Given the description of an element on the screen output the (x, y) to click on. 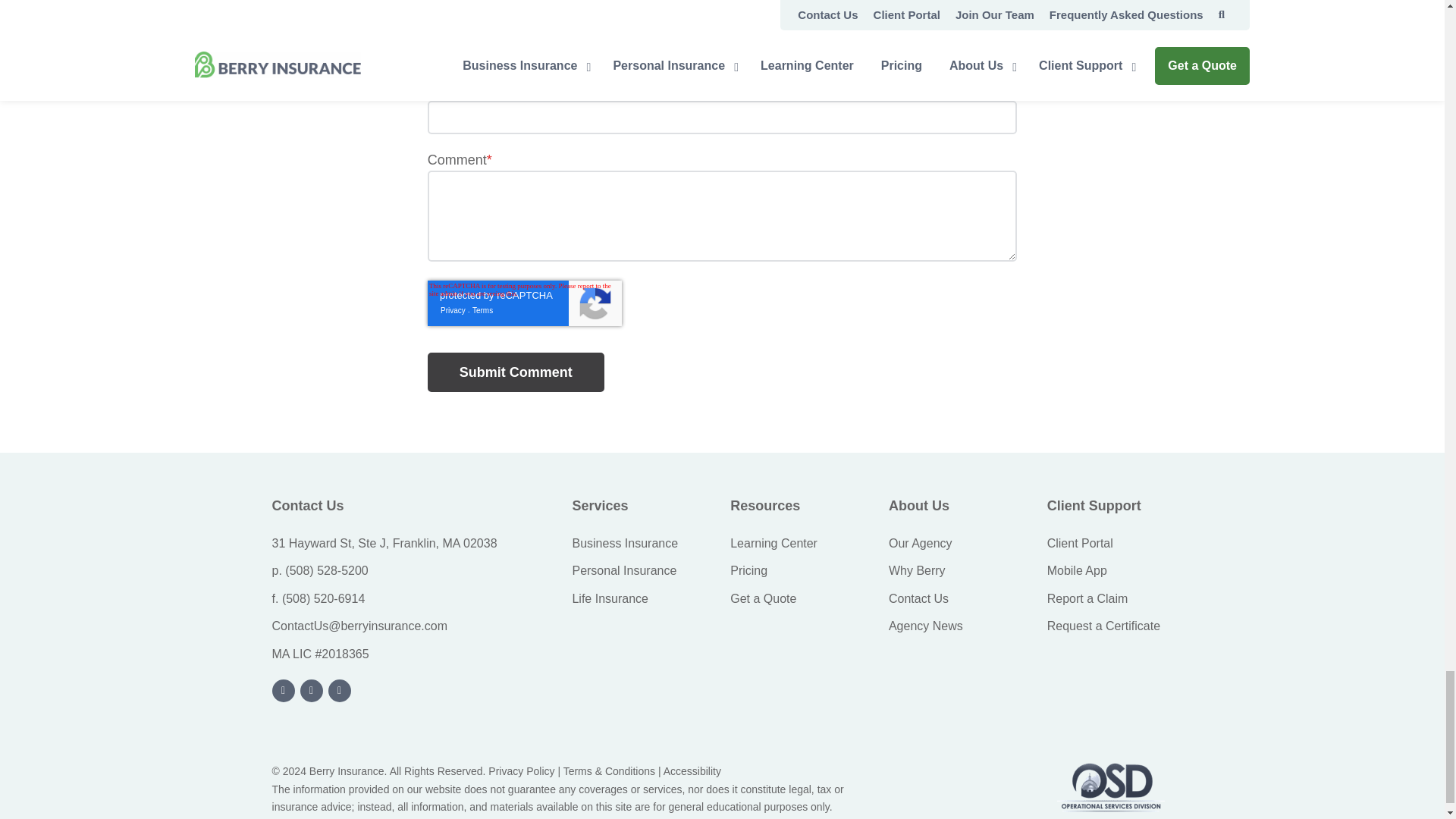
Facebook (339, 690)
Berry Insurance Fax Number (323, 598)
YouTube (311, 690)
Submit Comment (516, 372)
LinkedIn (283, 690)
reCAPTCHA (524, 302)
Berry Insurance Phone Number (326, 570)
Berry Insurance Email (359, 625)
